Given the description of an element on the screen output the (x, y) to click on. 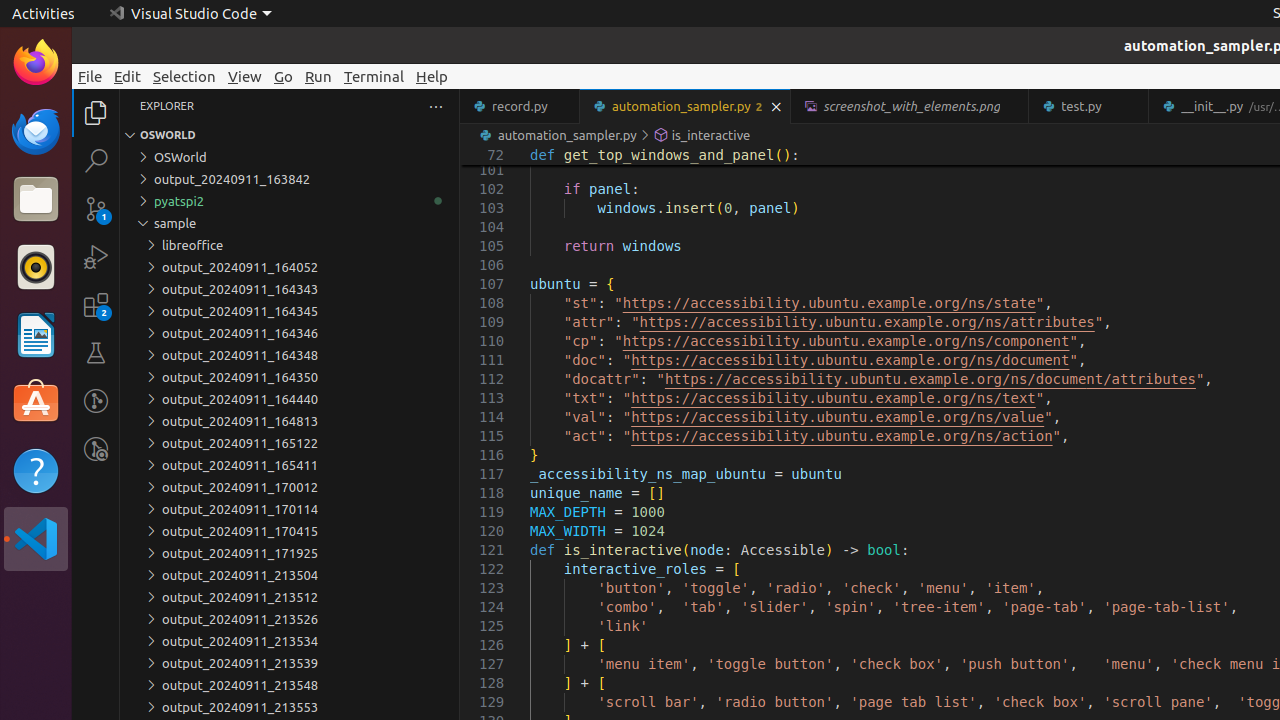
output_20240911_164345 Element type: tree-item (289, 311)
output_20240911_213553 Element type: tree-item (289, 707)
